Given the description of an element on the screen output the (x, y) to click on. 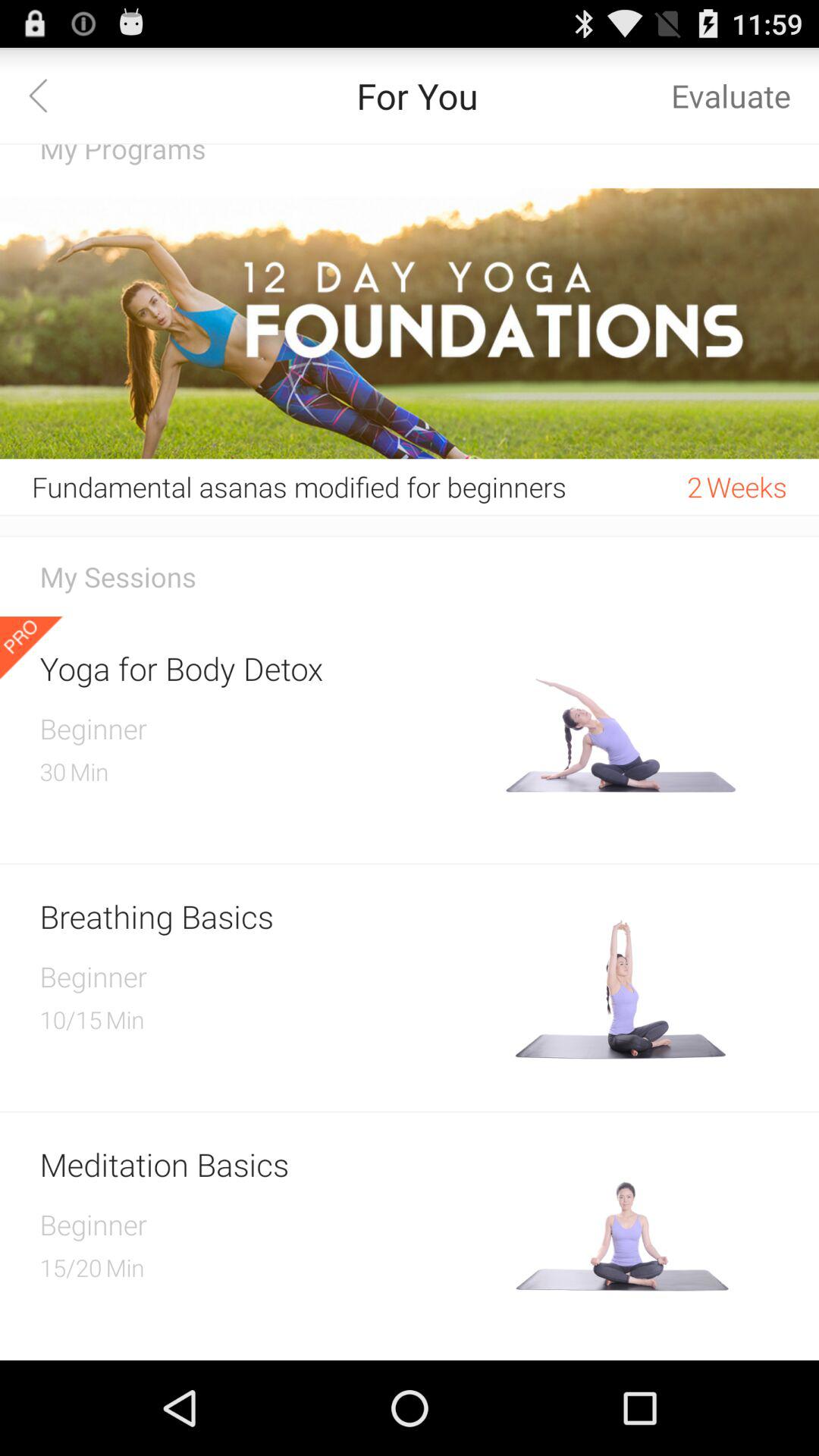
scroll to the meditation basics (266, 1163)
